Given the description of an element on the screen output the (x, y) to click on. 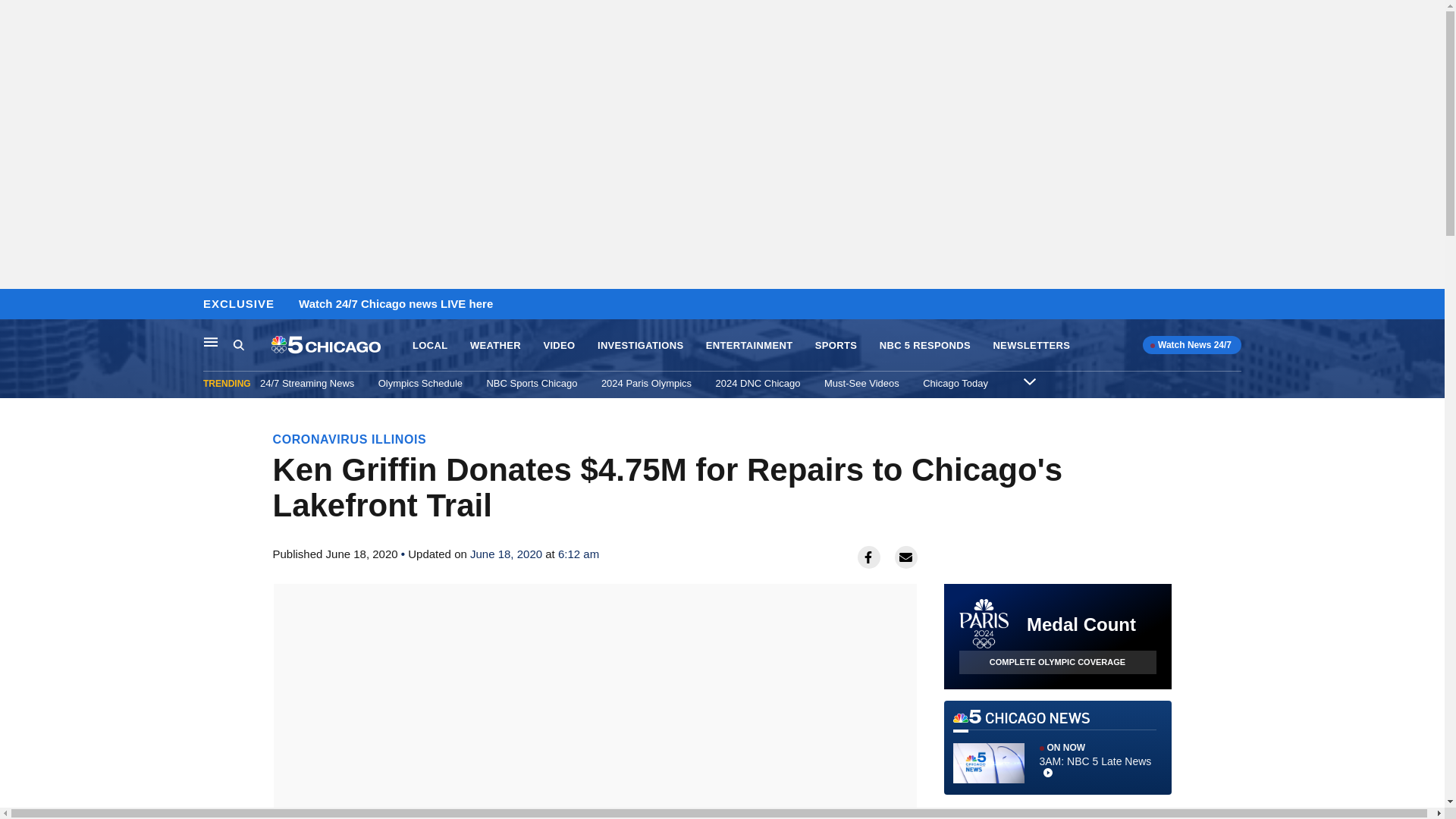
Chicago Today (955, 383)
INVESTIGATIONS (639, 345)
VIDEO (559, 345)
ENTERTAINMENT (749, 345)
SPORTS (836, 345)
Search (252, 345)
Skip to content (16, 304)
Must-See Videos (861, 383)
CORONAVIRUS ILLINOIS (1056, 747)
